Given the description of an element on the screen output the (x, y) to click on. 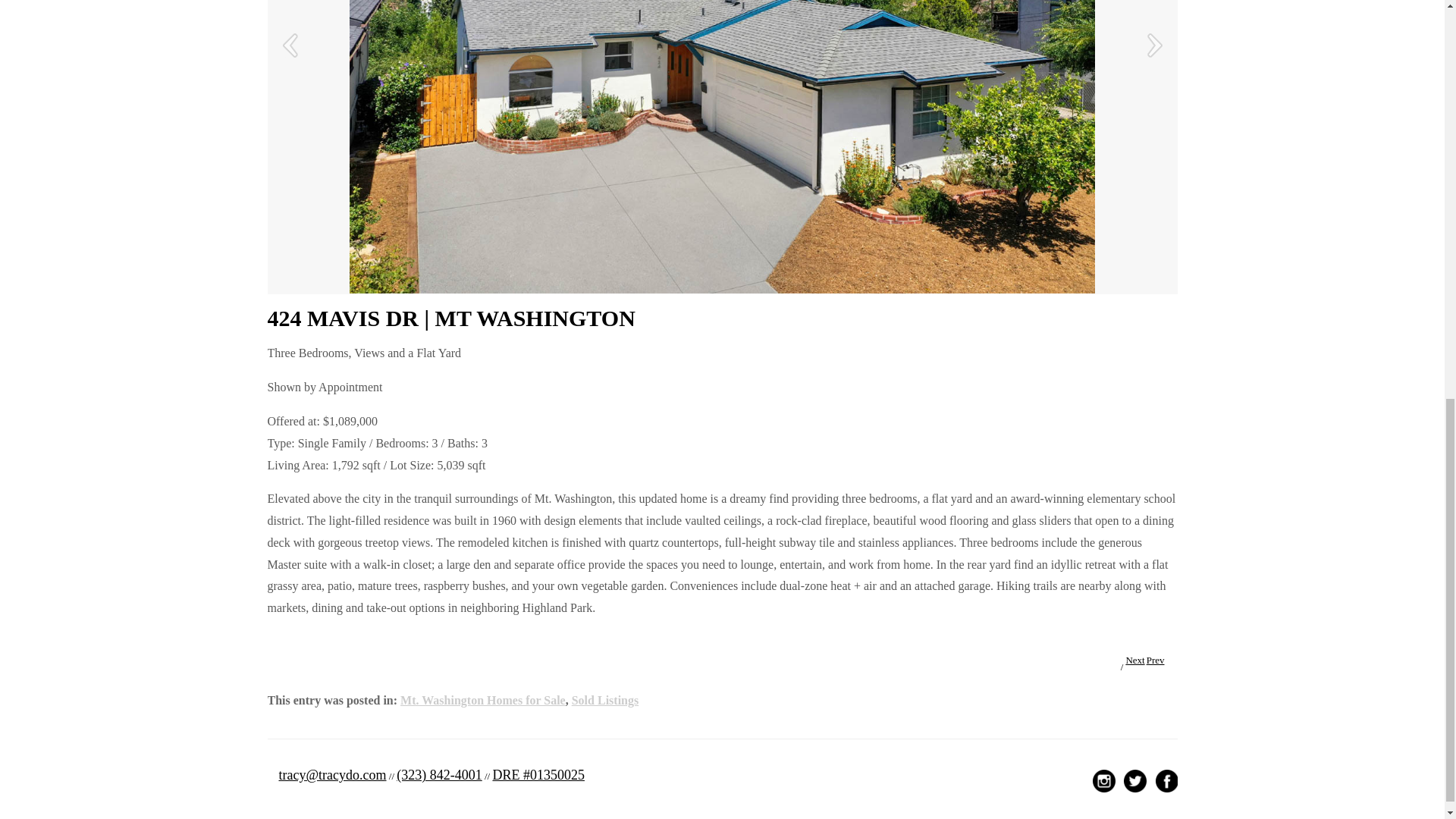
Prev (1155, 660)
Sold Listings (605, 699)
Next (1134, 660)
Mt. Washington Homes for Sale (483, 699)
